Given the description of an element on the screen output the (x, y) to click on. 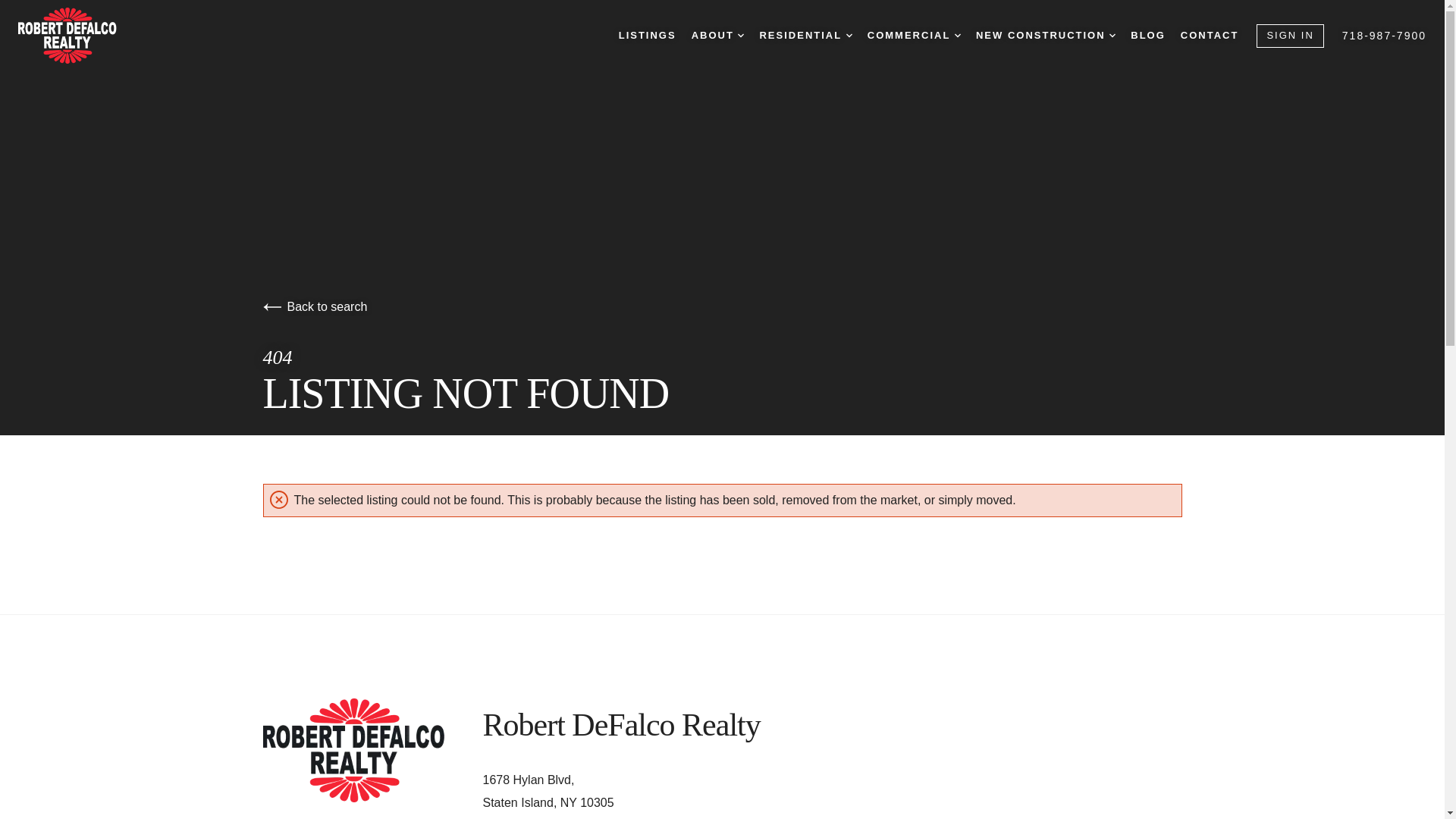
DROPDOWN ARROW (1112, 35)
CONTACT (1209, 35)
BLOG (1148, 35)
LISTINGS (647, 35)
RESIDENTIAL DROPDOWN ARROW (804, 35)
COMMERCIAL DROPDOWN ARROW (913, 35)
ABOUT DROPDOWN ARROW (717, 35)
NEW CONSTRUCTION DROPDOWN ARROW (1045, 35)
SIGN IN (1289, 35)
DROPDOWN ARROW (848, 35)
